Given the description of an element on the screen output the (x, y) to click on. 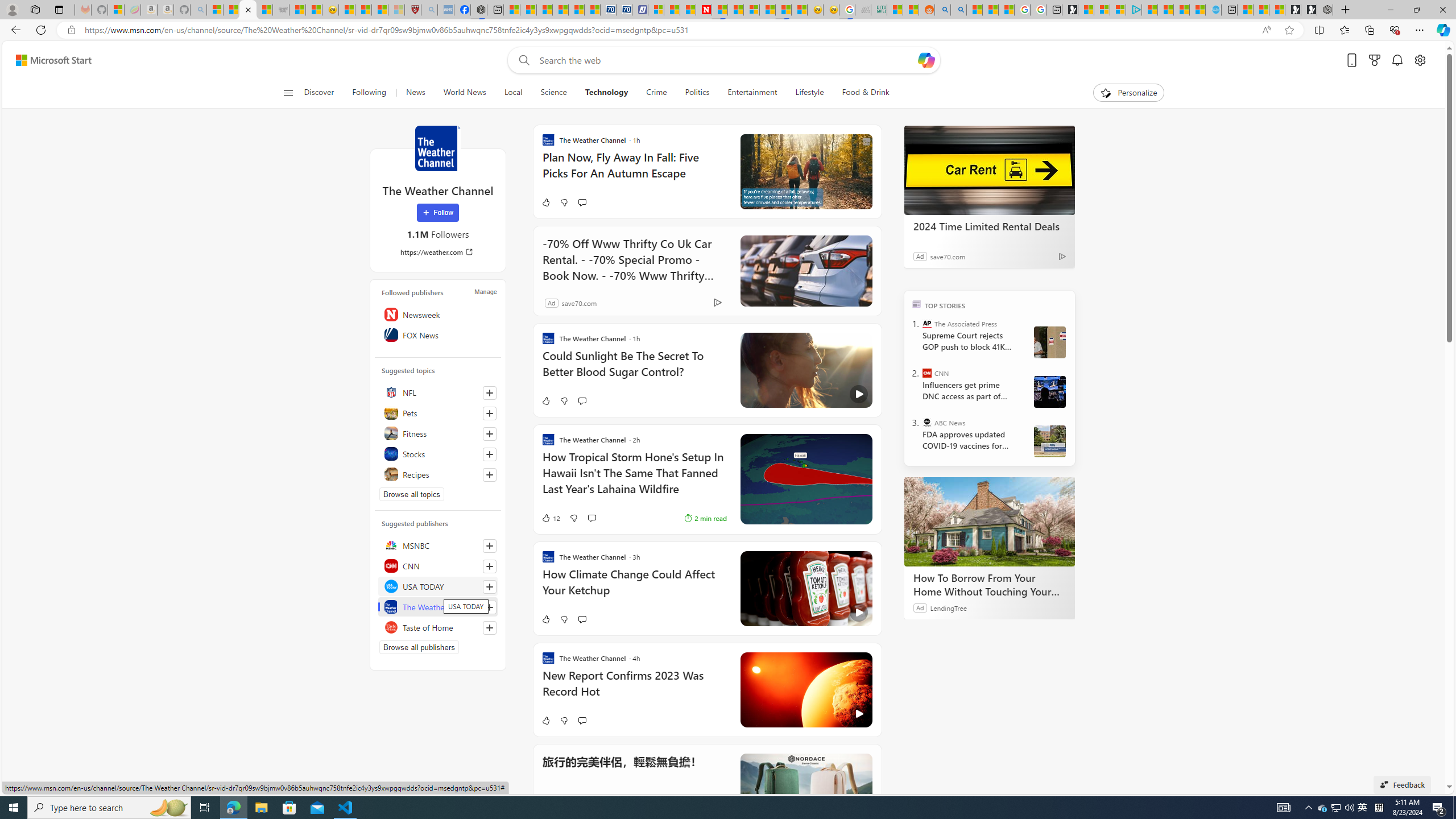
Fitness (437, 433)
Newsweek (437, 314)
